Given the description of an element on the screen output the (x, y) to click on. 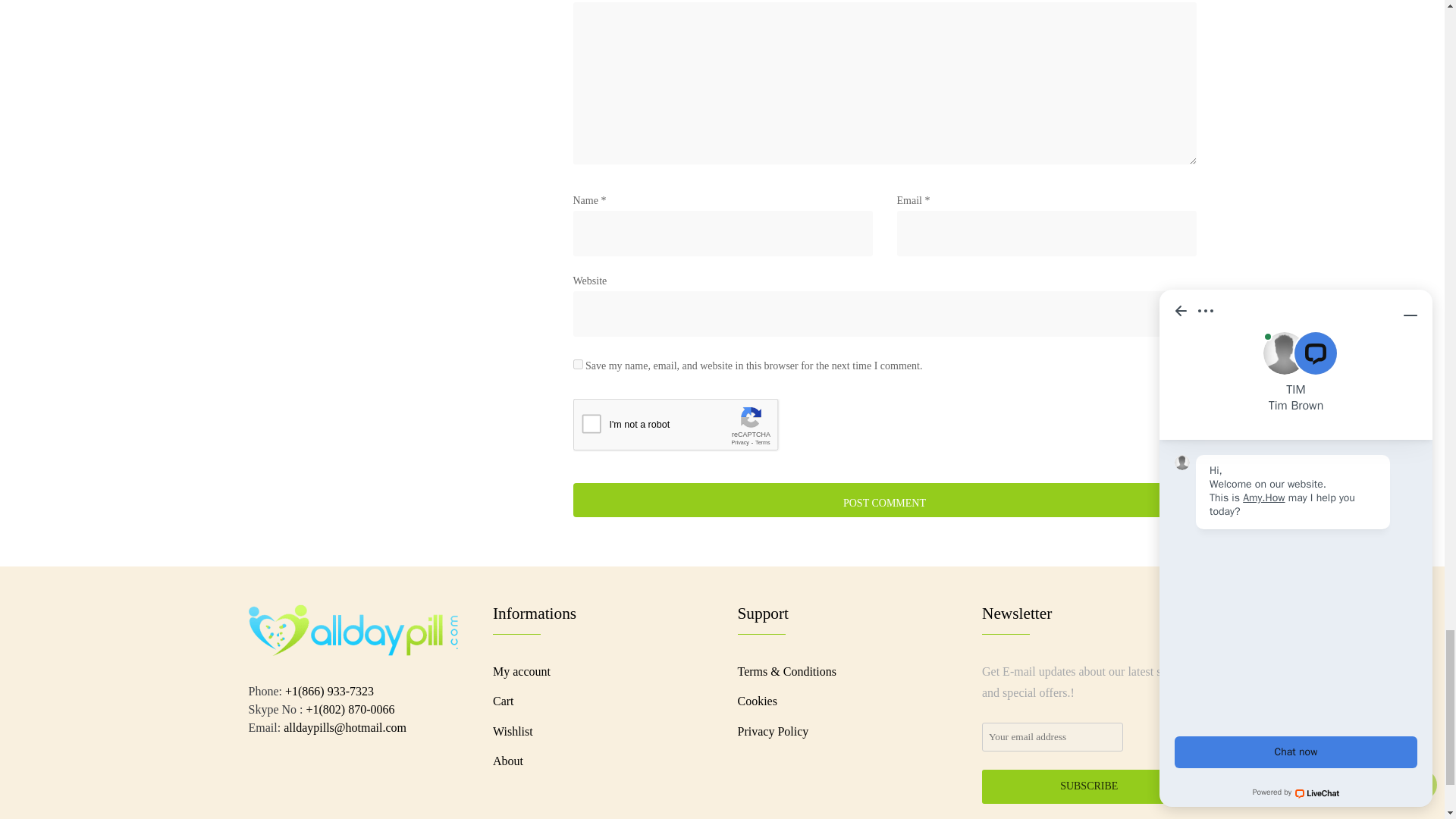
Post Comment (884, 499)
reCAPTCHA (688, 427)
yes (578, 364)
Subscribe (1088, 786)
